Given the description of an element on the screen output the (x, y) to click on. 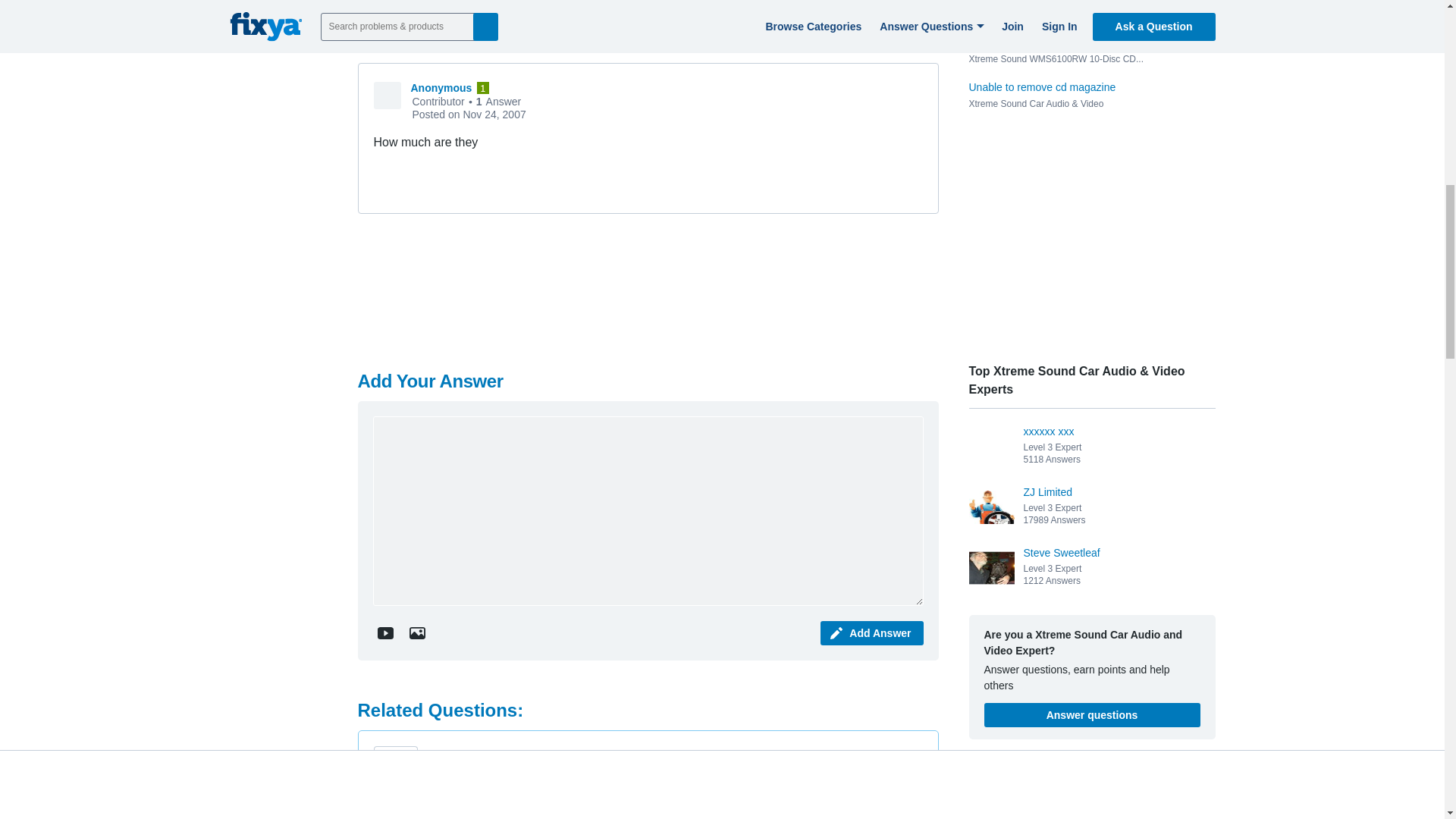
Add Answer (872, 632)
